Given the description of an element on the screen output the (x, y) to click on. 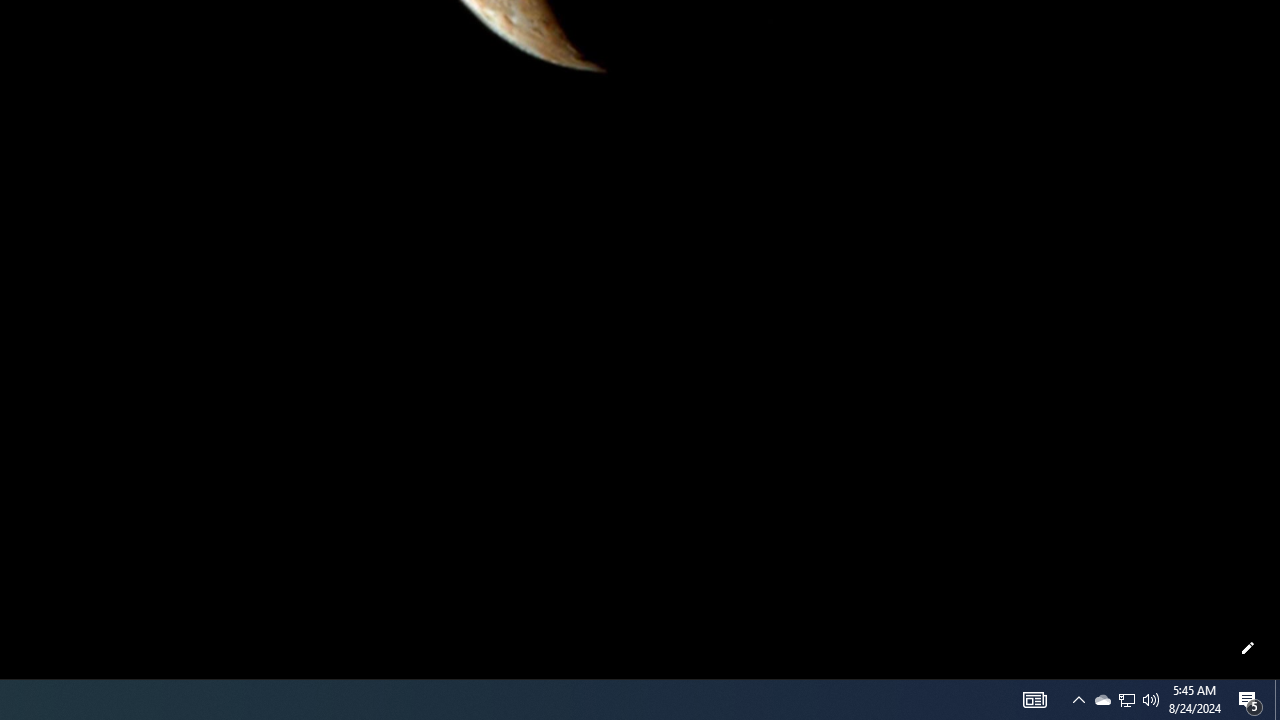
Customize this page (1247, 647)
